Given the description of an element on the screen output the (x, y) to click on. 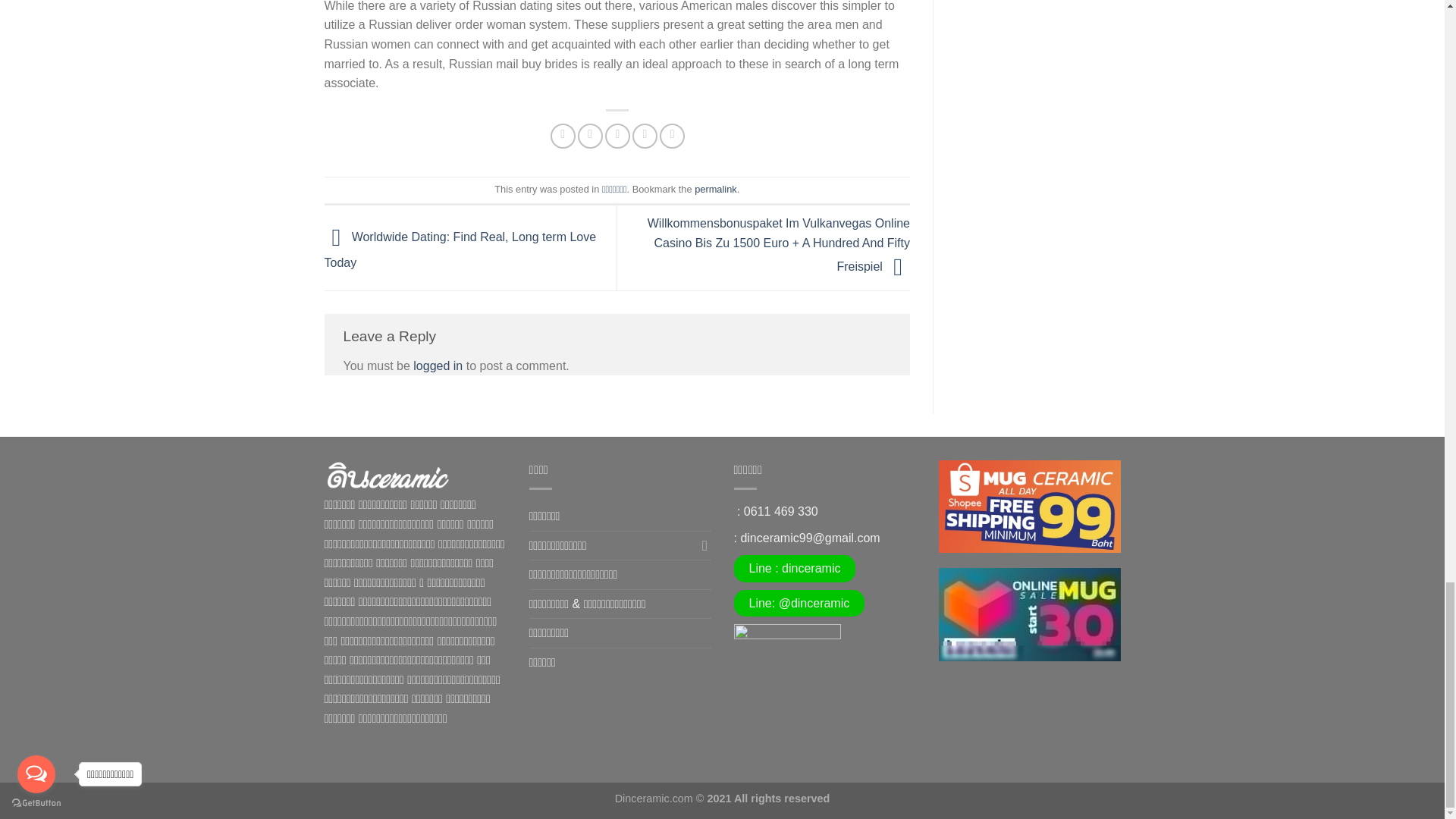
logged in (438, 365)
Worldwide Dating: Find Real, Long term Love Today (460, 249)
permalink (715, 188)
